Given the description of an element on the screen output the (x, y) to click on. 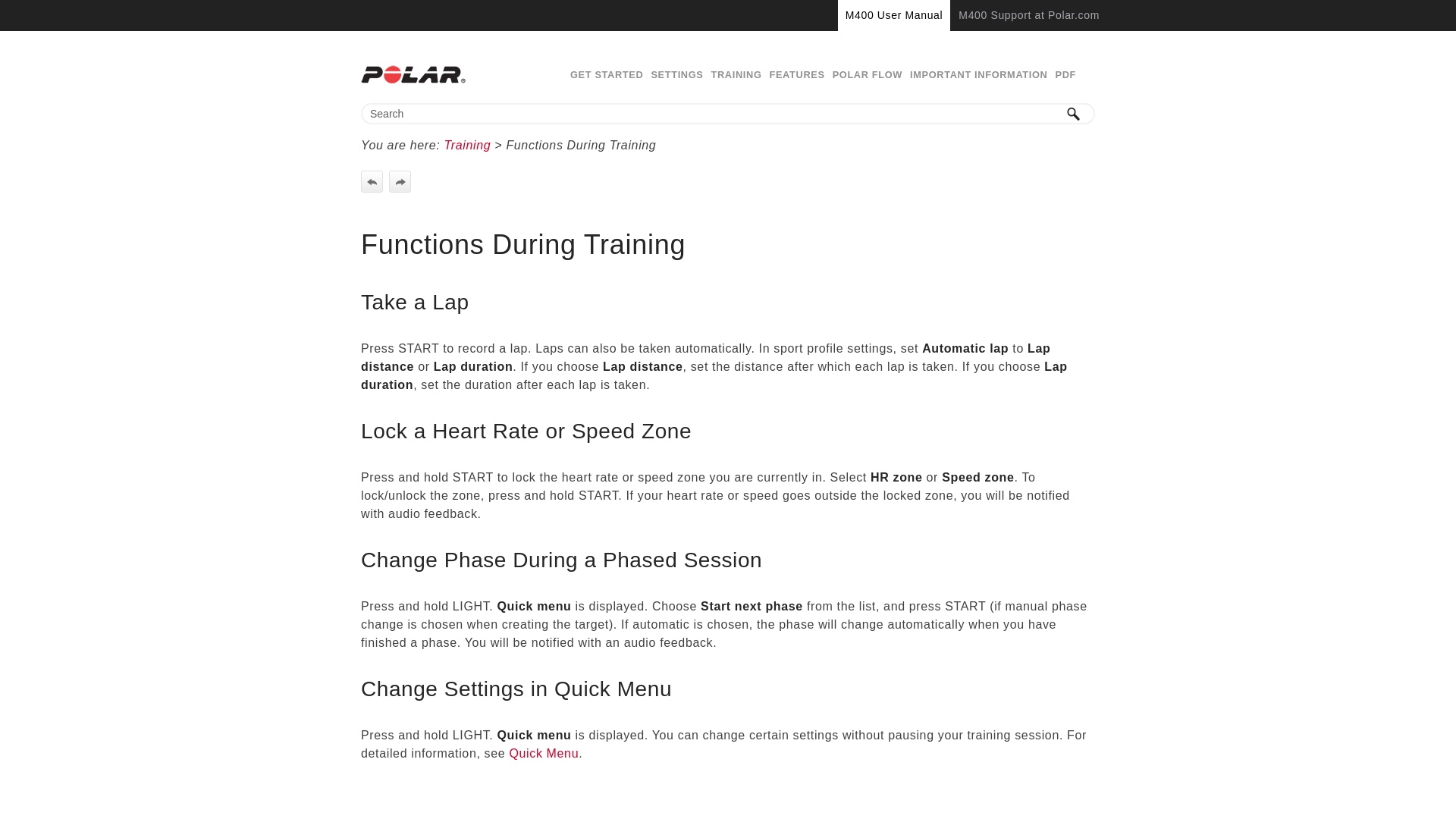
TRAINING (736, 74)
Navigate previous (371, 181)
SETTINGS (676, 74)
M400 User Manual (894, 15)
GET STARTED (606, 74)
FEATURES (796, 74)
M400 Support at Polar.com (1028, 15)
Search (1073, 113)
Navigate next (399, 181)
